Given the description of an element on the screen output the (x, y) to click on. 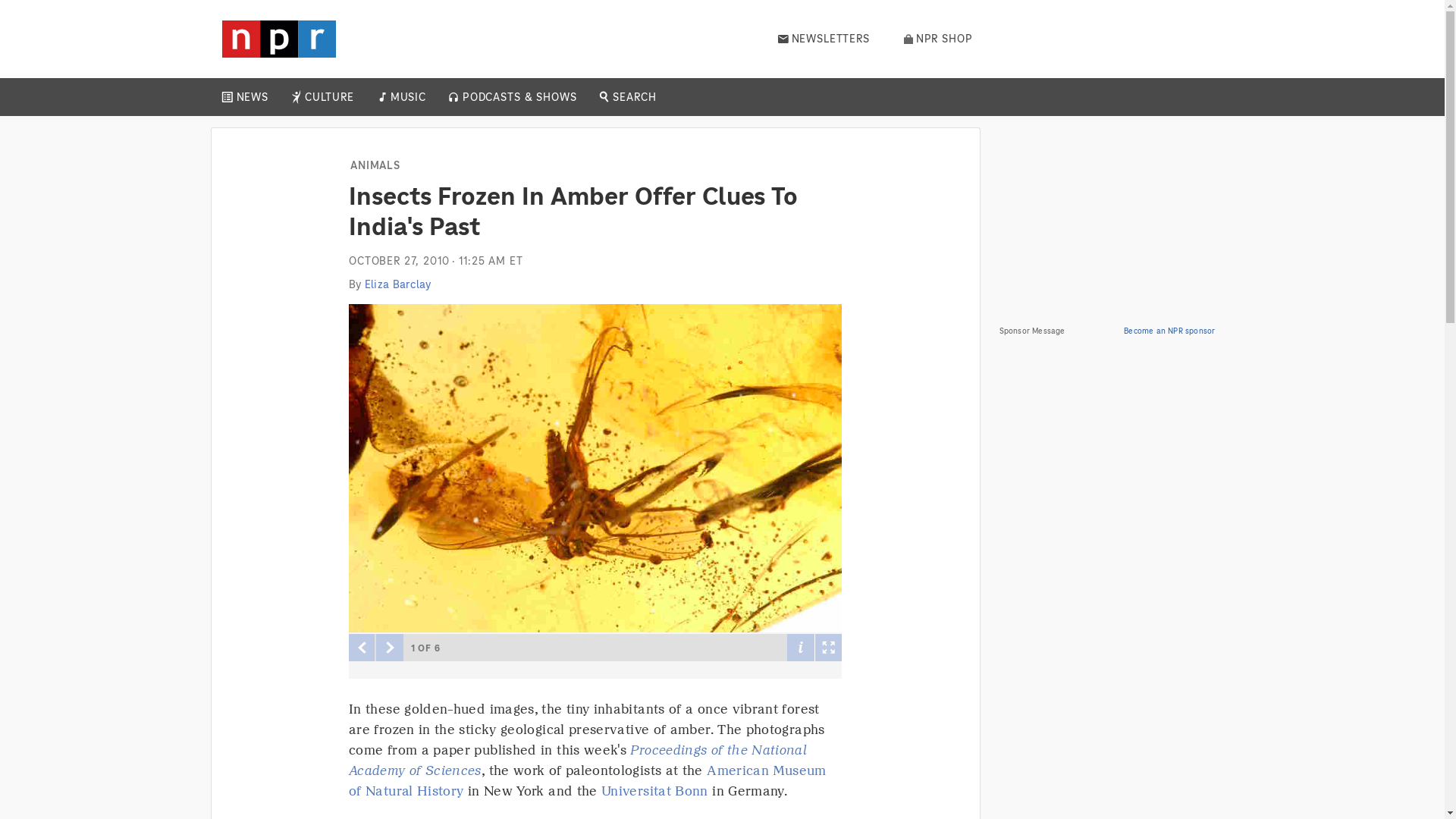
NEWSLETTERS (823, 38)
CULTURE (328, 96)
MUSIC (407, 96)
NEWS (251, 96)
NPR SHOP (938, 38)
